Given the description of an element on the screen output the (x, y) to click on. 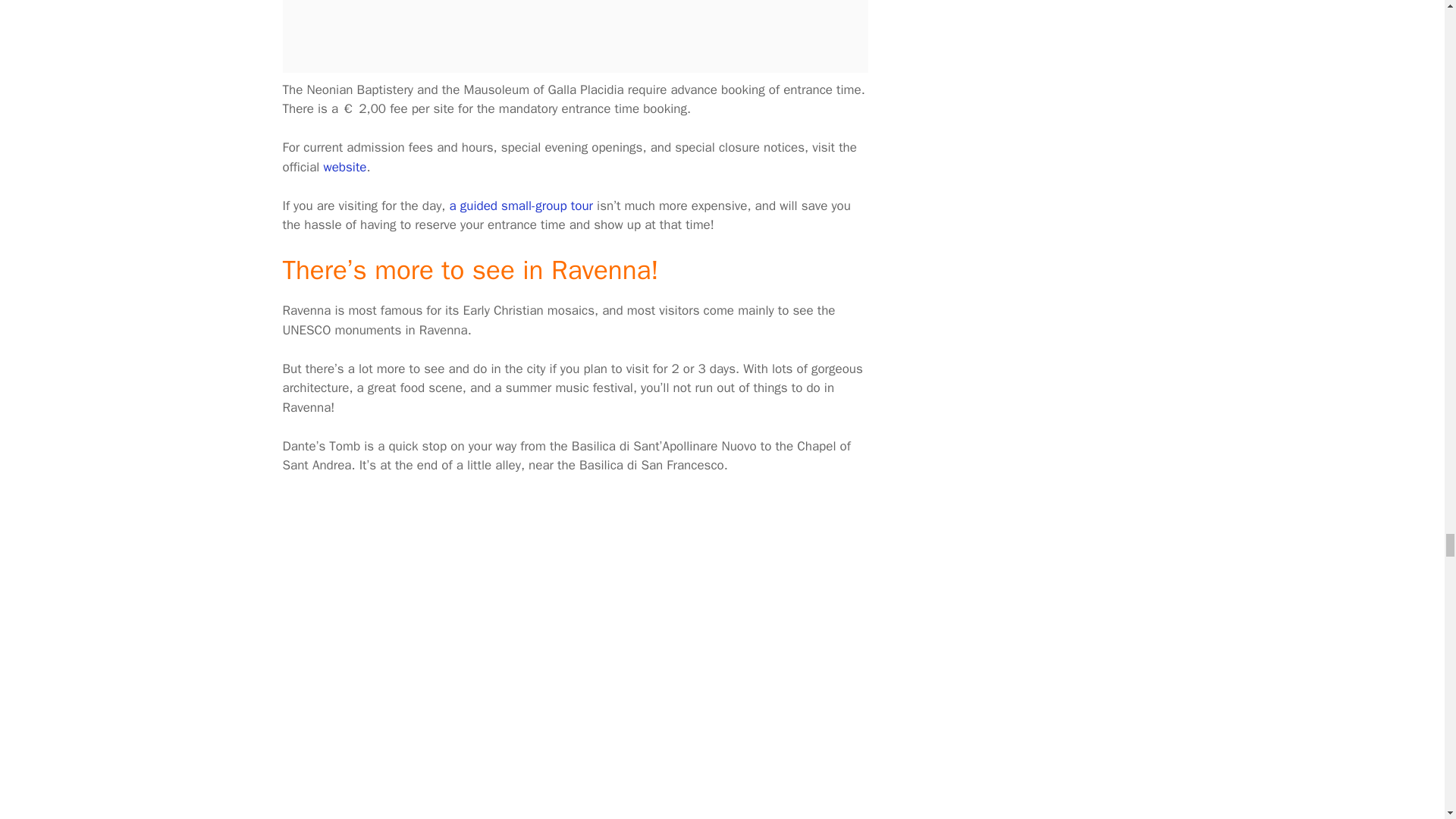
a guided small-group tour (520, 205)
website (344, 166)
